Given the description of an element on the screen output the (x, y) to click on. 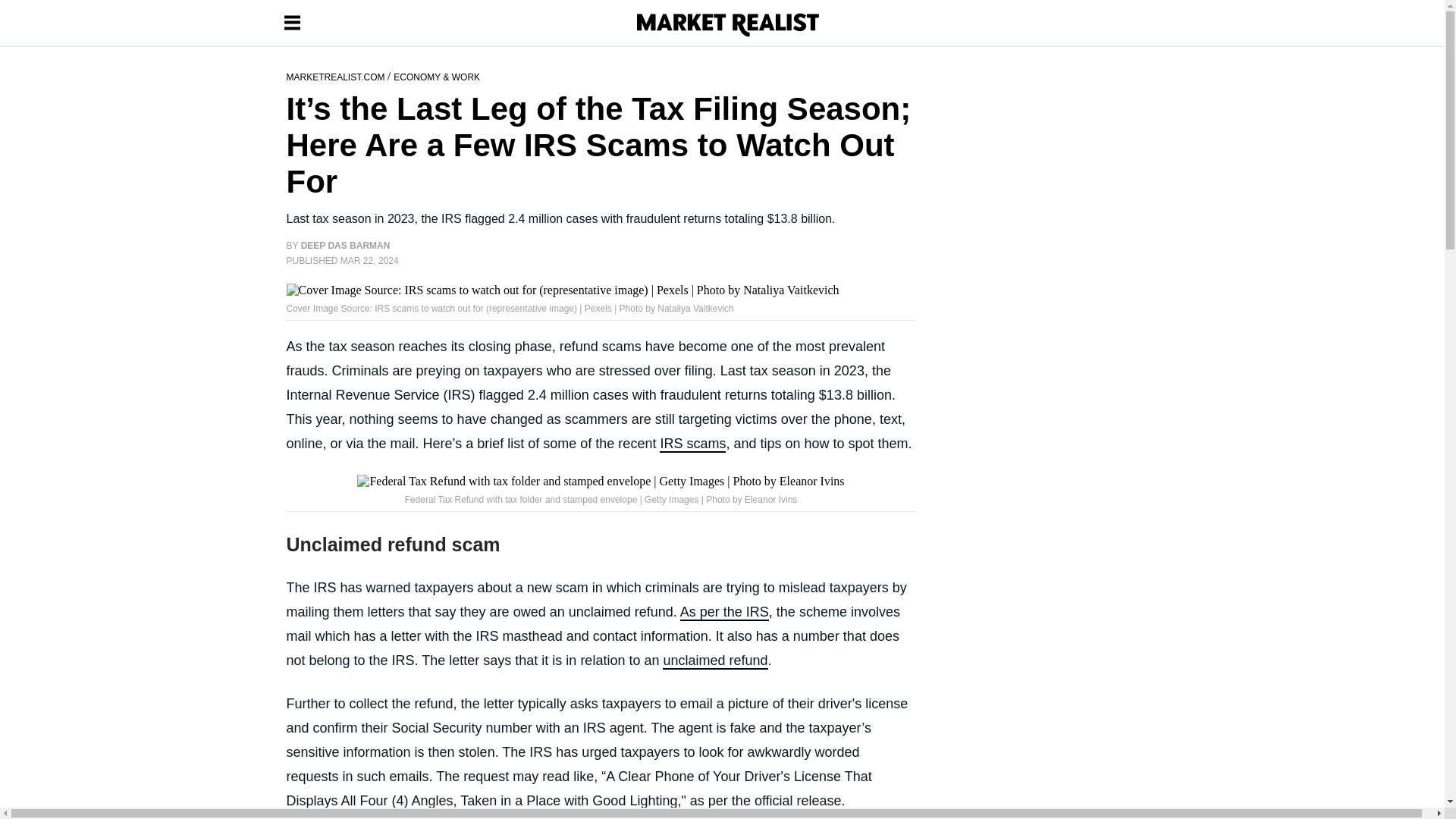
As per the IRS (723, 612)
official release. (799, 801)
MARKETREALIST.COM (336, 75)
IRS scams (692, 443)
DEEP DAS BARMAN (345, 245)
unclaimed refund (714, 660)
